Given the description of an element on the screen output the (x, y) to click on. 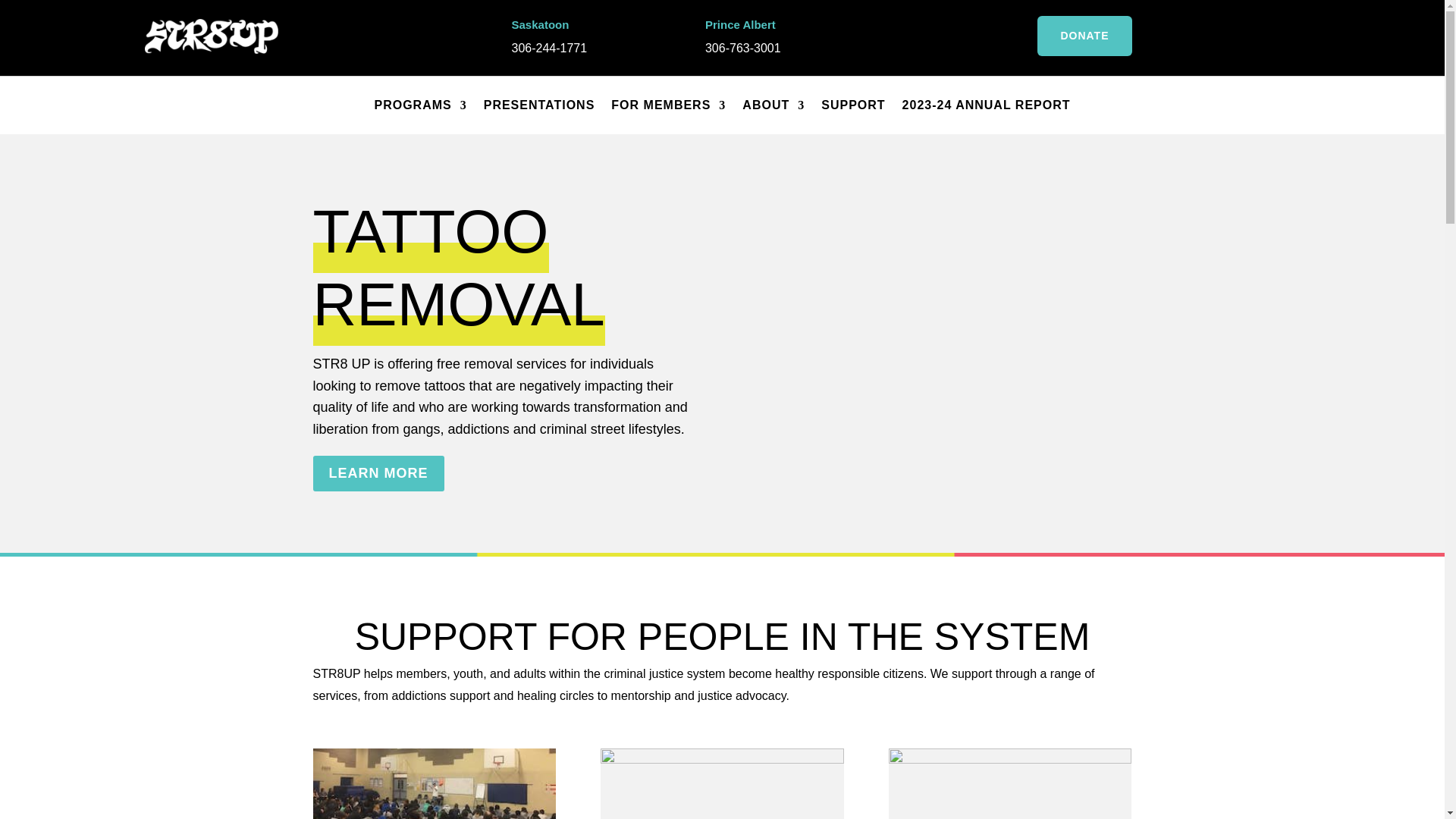
ABOUT (773, 105)
2023-24 ANNUAL REPORT (986, 105)
SUPPORT (853, 105)
give-back (1009, 783)
PRESENTATIONS (539, 105)
DONATE (1083, 35)
PROGRAMS (419, 105)
FOR MEMBERS (668, 105)
